Given the description of an element on the screen output the (x, y) to click on. 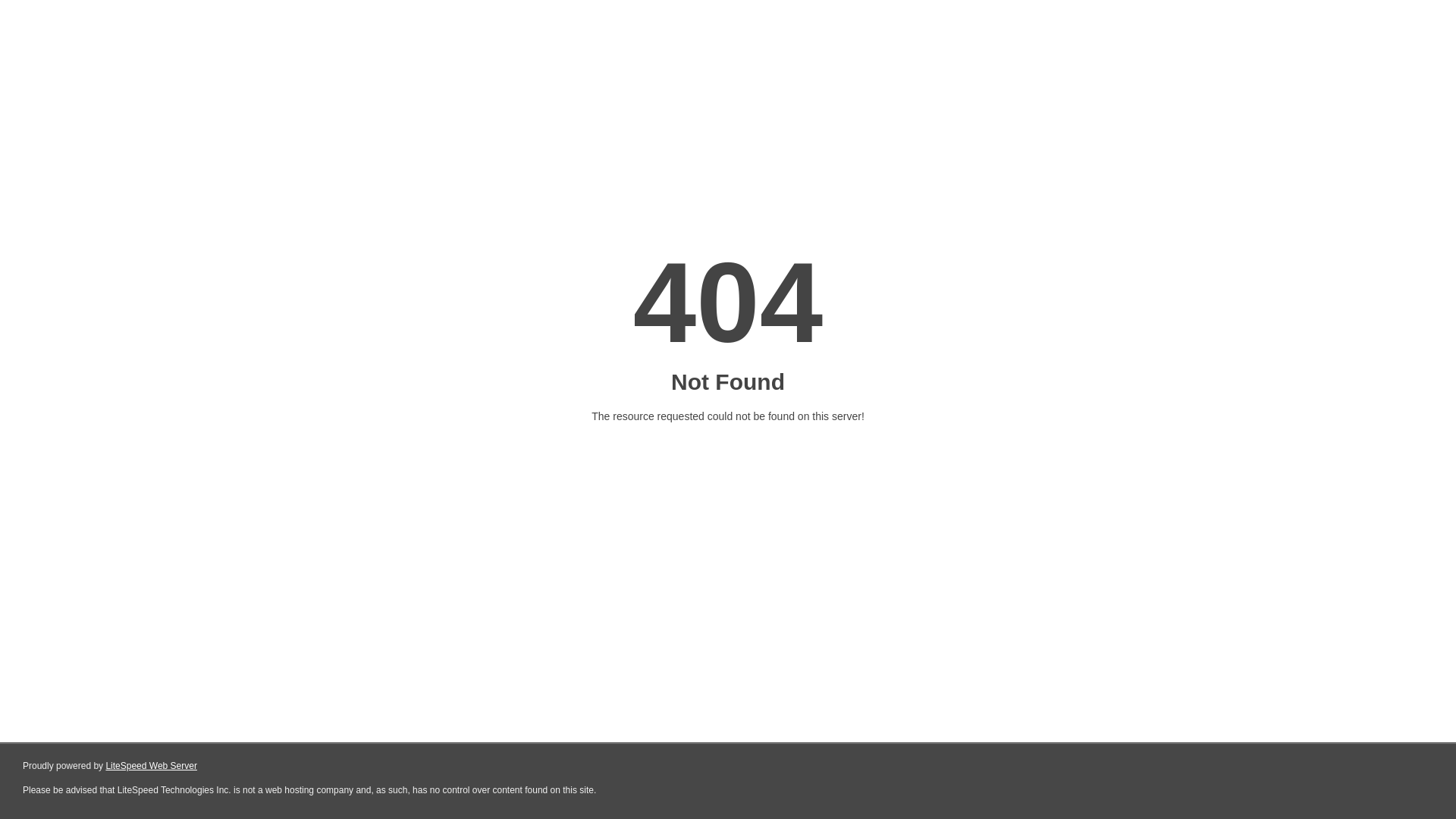
LiteSpeed Web Server Element type: text (151, 765)
